Given the description of an element on the screen output the (x, y) to click on. 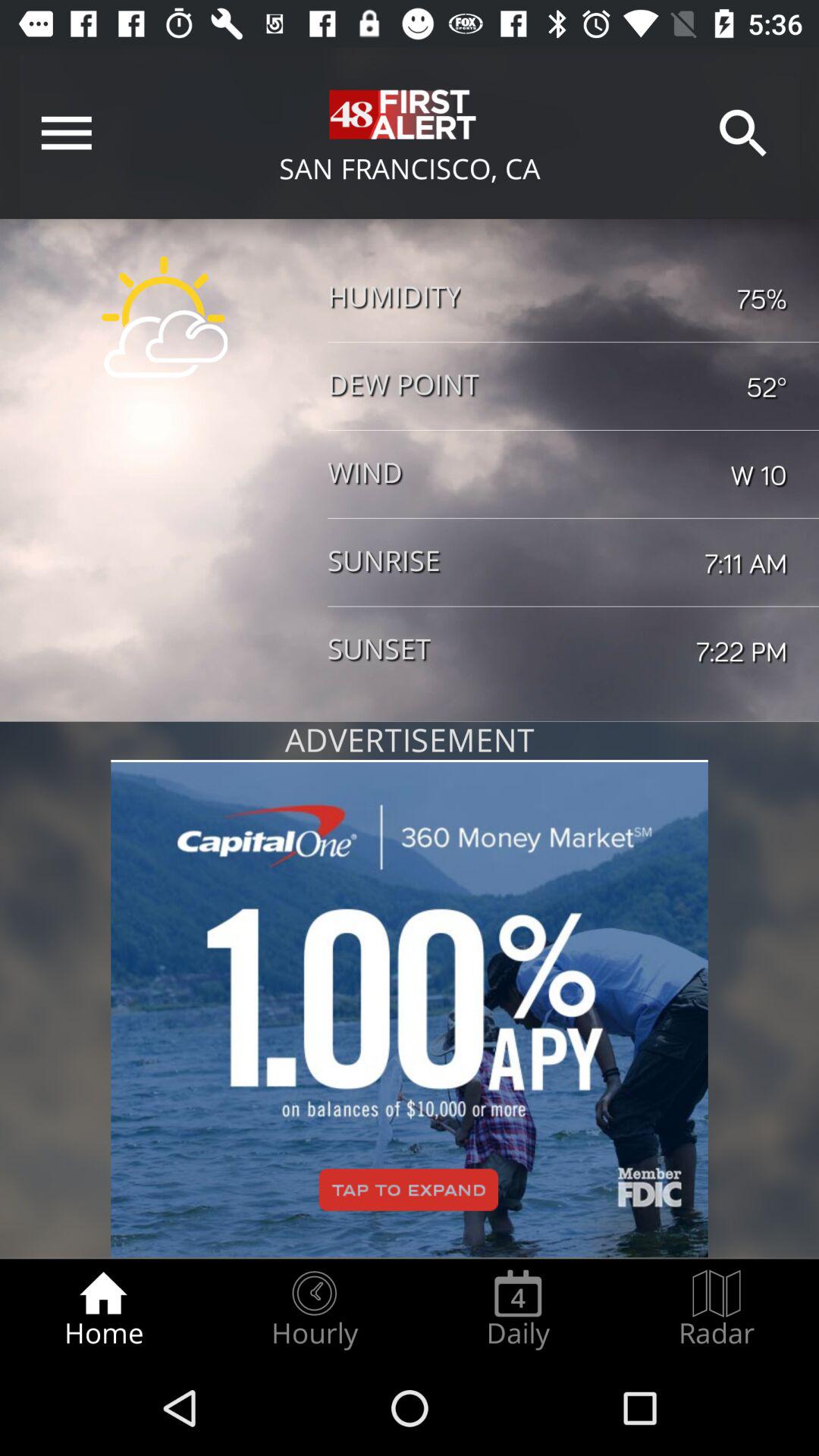
open the hourly radio button (314, 1309)
